Given the description of an element on the screen output the (x, y) to click on. 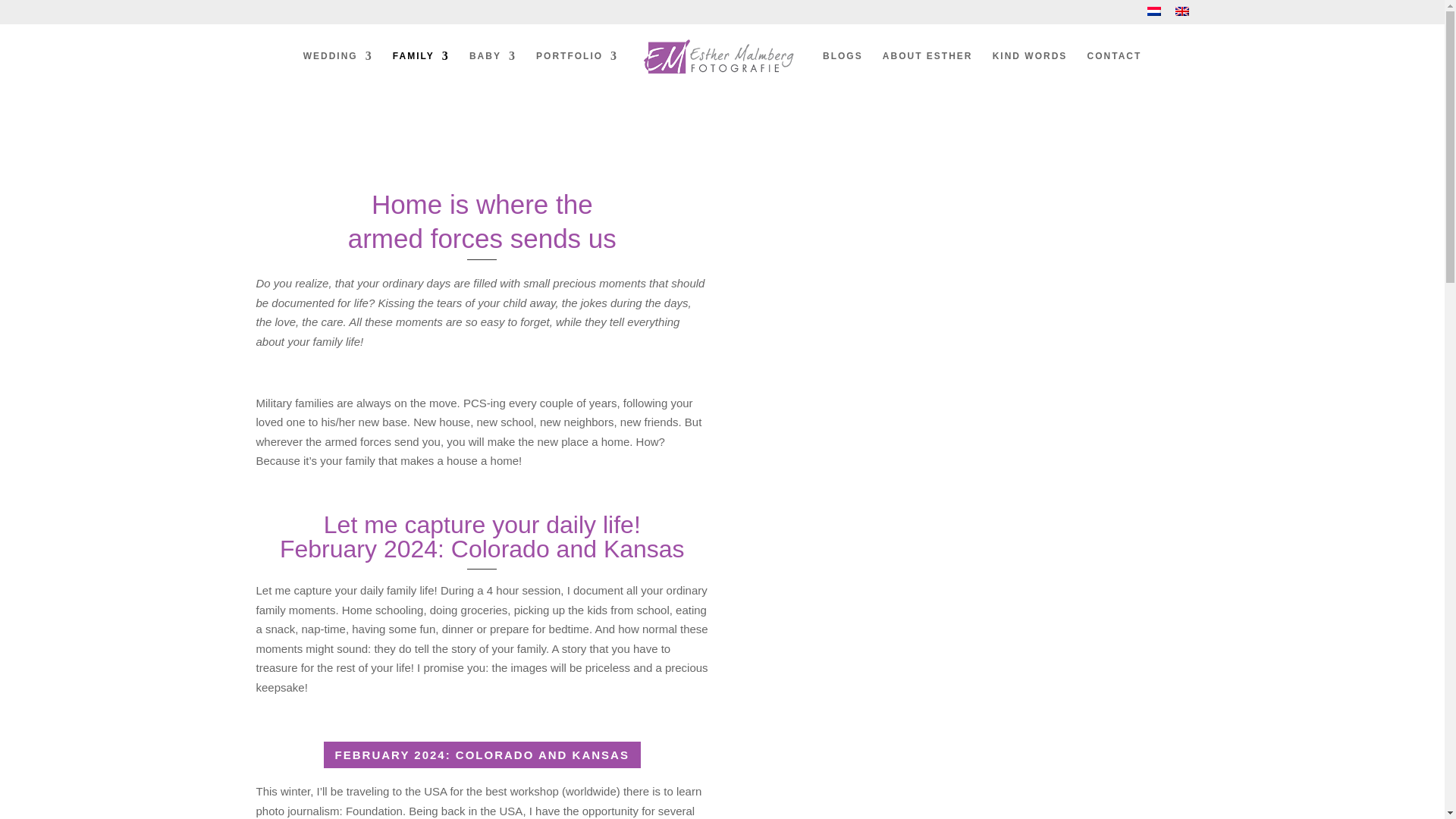
FAMILY (421, 68)
BABY (492, 68)
PORTFOLIO (576, 68)
ABOUT ESTHER (927, 68)
WEDDING (337, 68)
KIND WORDS (1029, 68)
BLOGS (842, 68)
CONTACT (1114, 68)
